Given the description of an element on the screen output the (x, y) to click on. 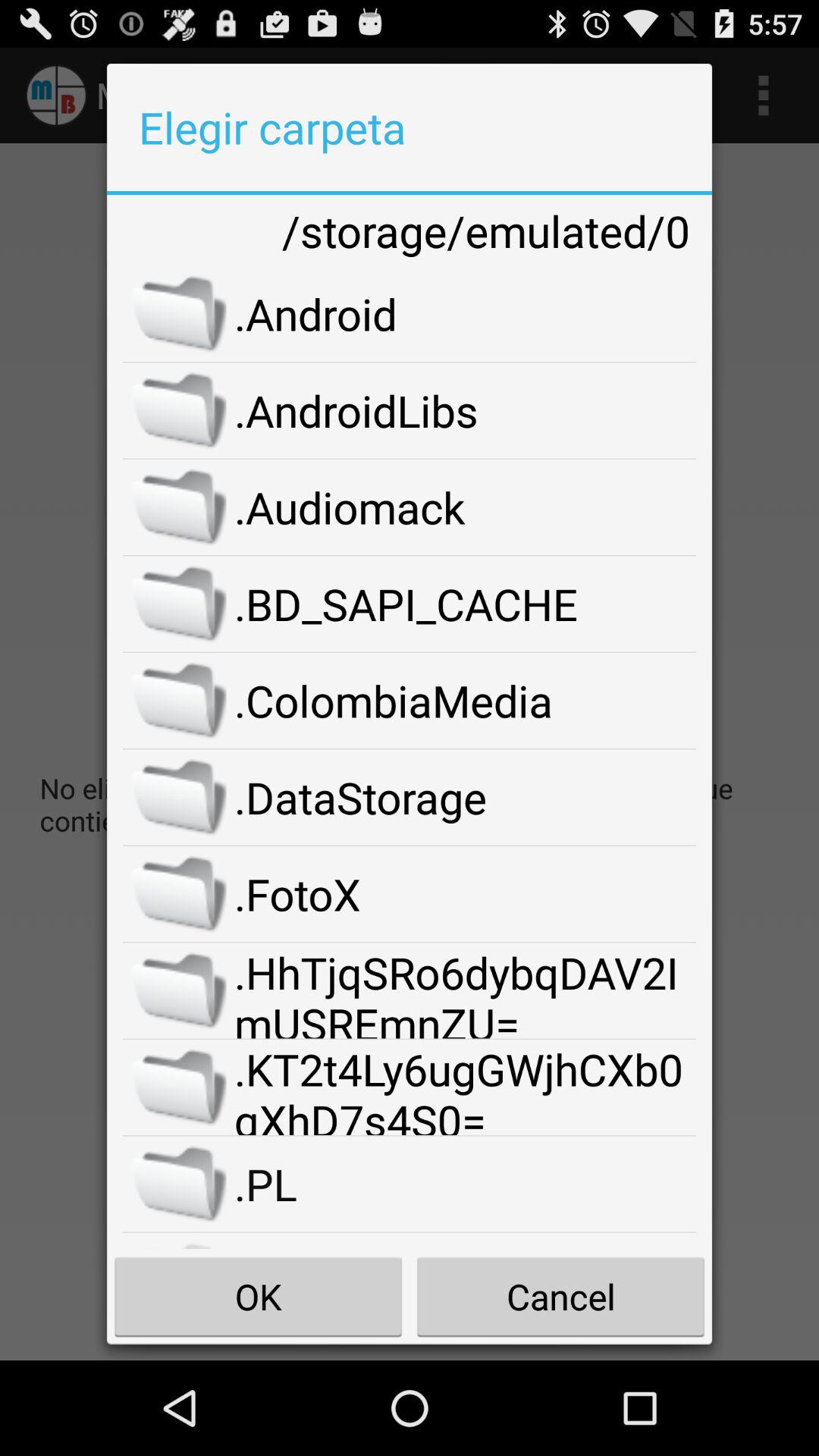
launch icon at the bottom right corner (560, 1296)
